Given the description of an element on the screen output the (x, y) to click on. 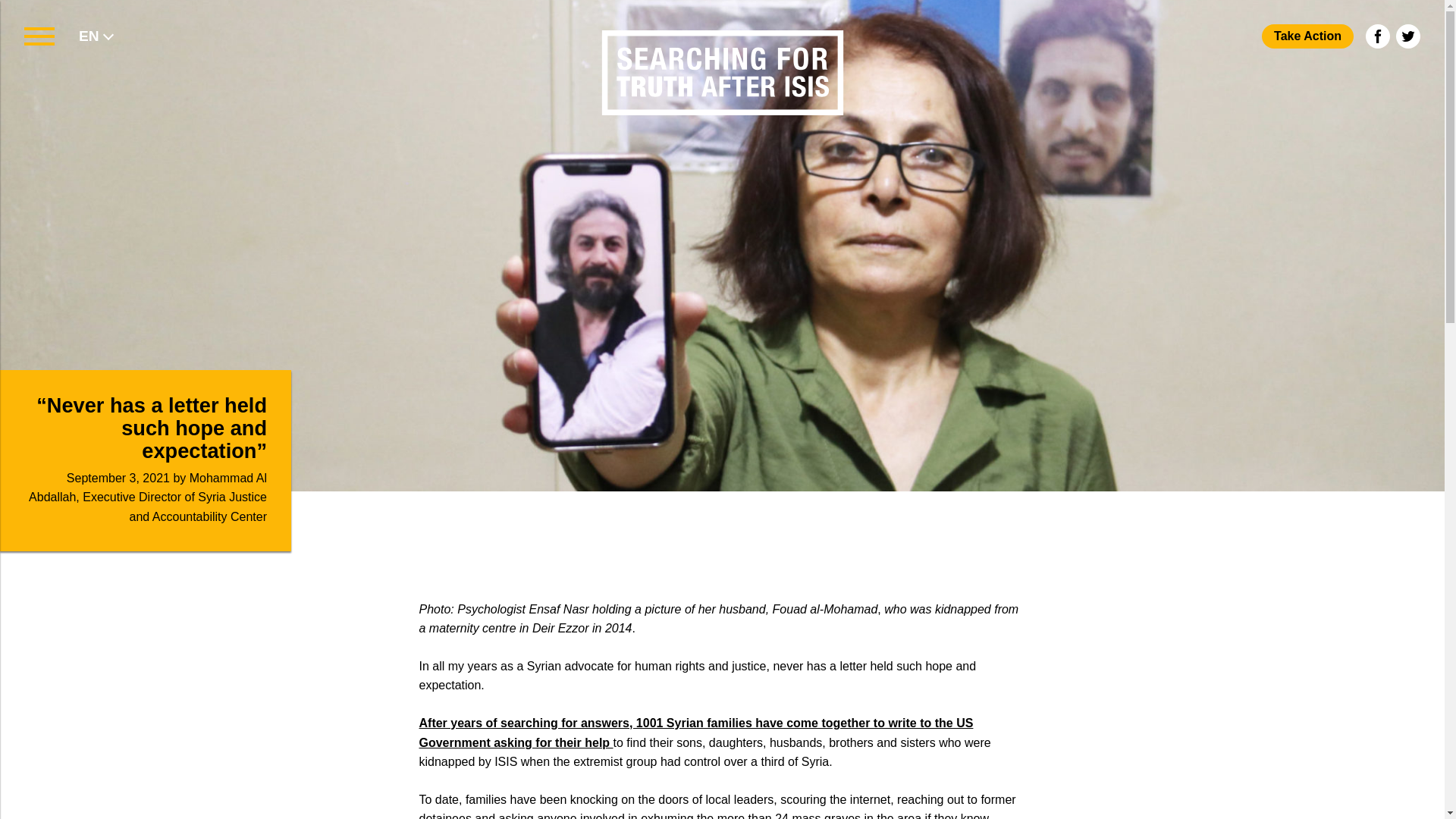
Take Action (1308, 36)
EN (88, 35)
